Given the description of an element on the screen output the (x, y) to click on. 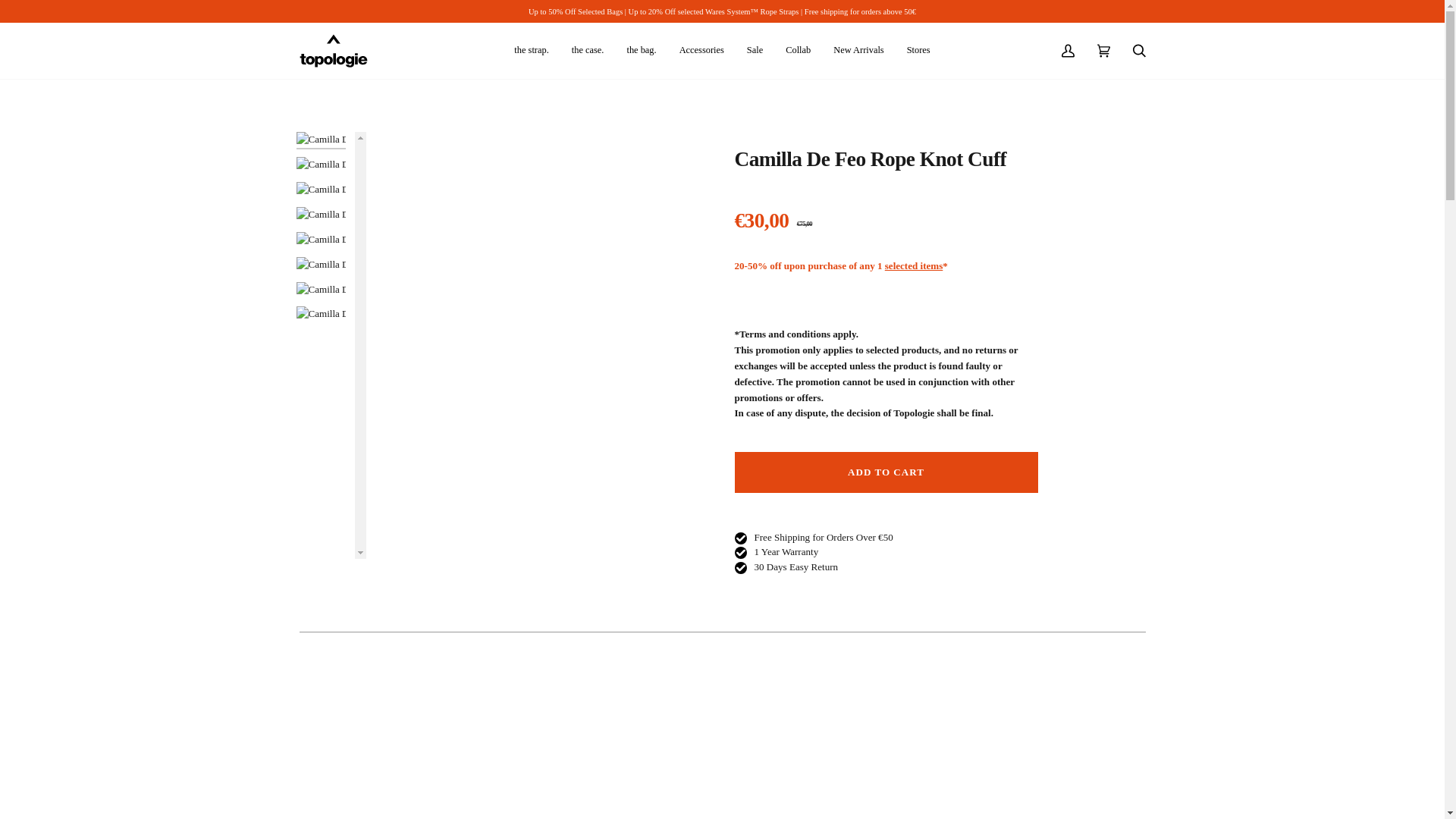
the strap. (530, 50)
the case. (587, 50)
